Given the description of an element on the screen output the (x, y) to click on. 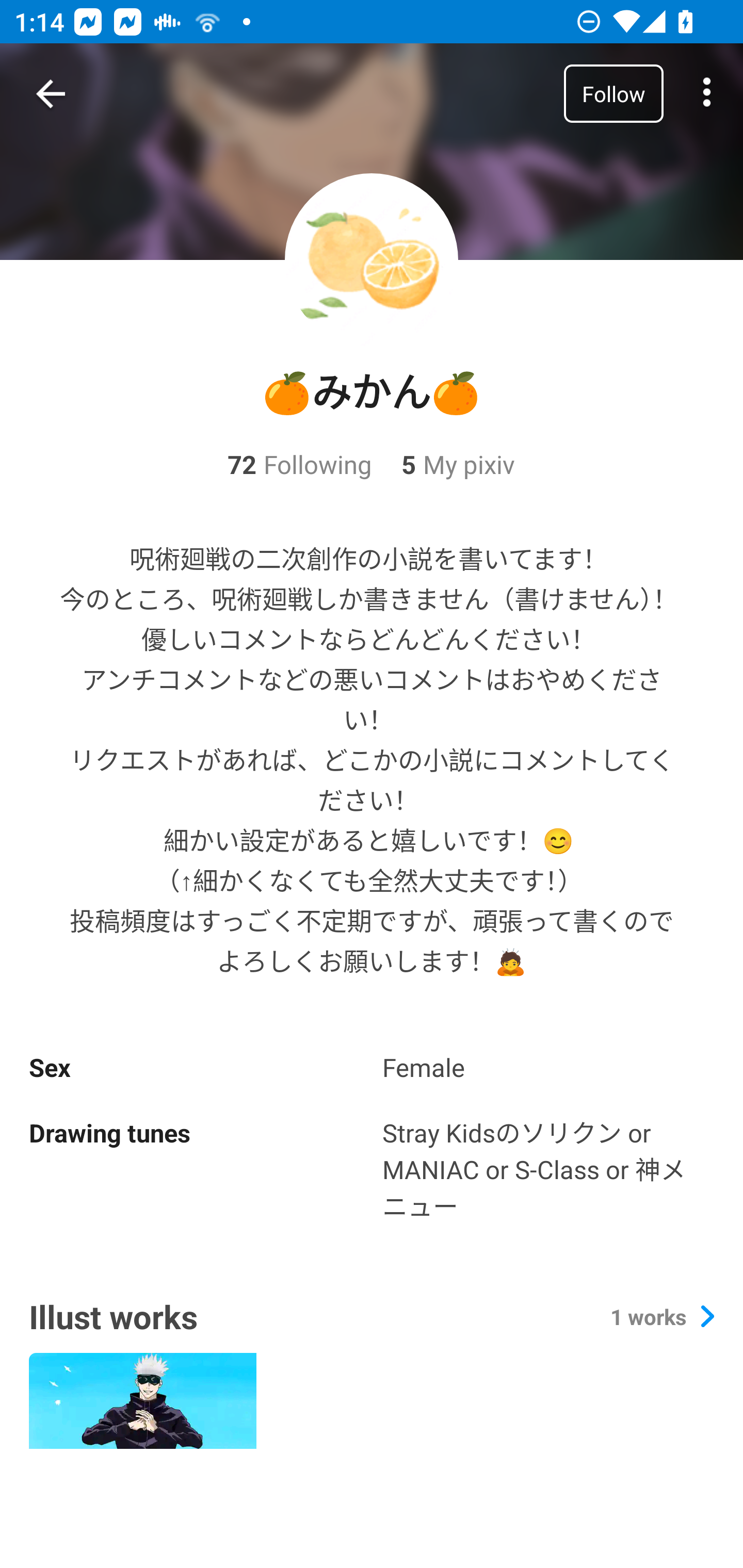
Navigate up (50, 93)
More options (706, 93)
Follow (613, 93)
72 Following (299, 463)
5 My pixiv (443, 463)
1 works (662, 1316)
